Given the description of an element on the screen output the (x, y) to click on. 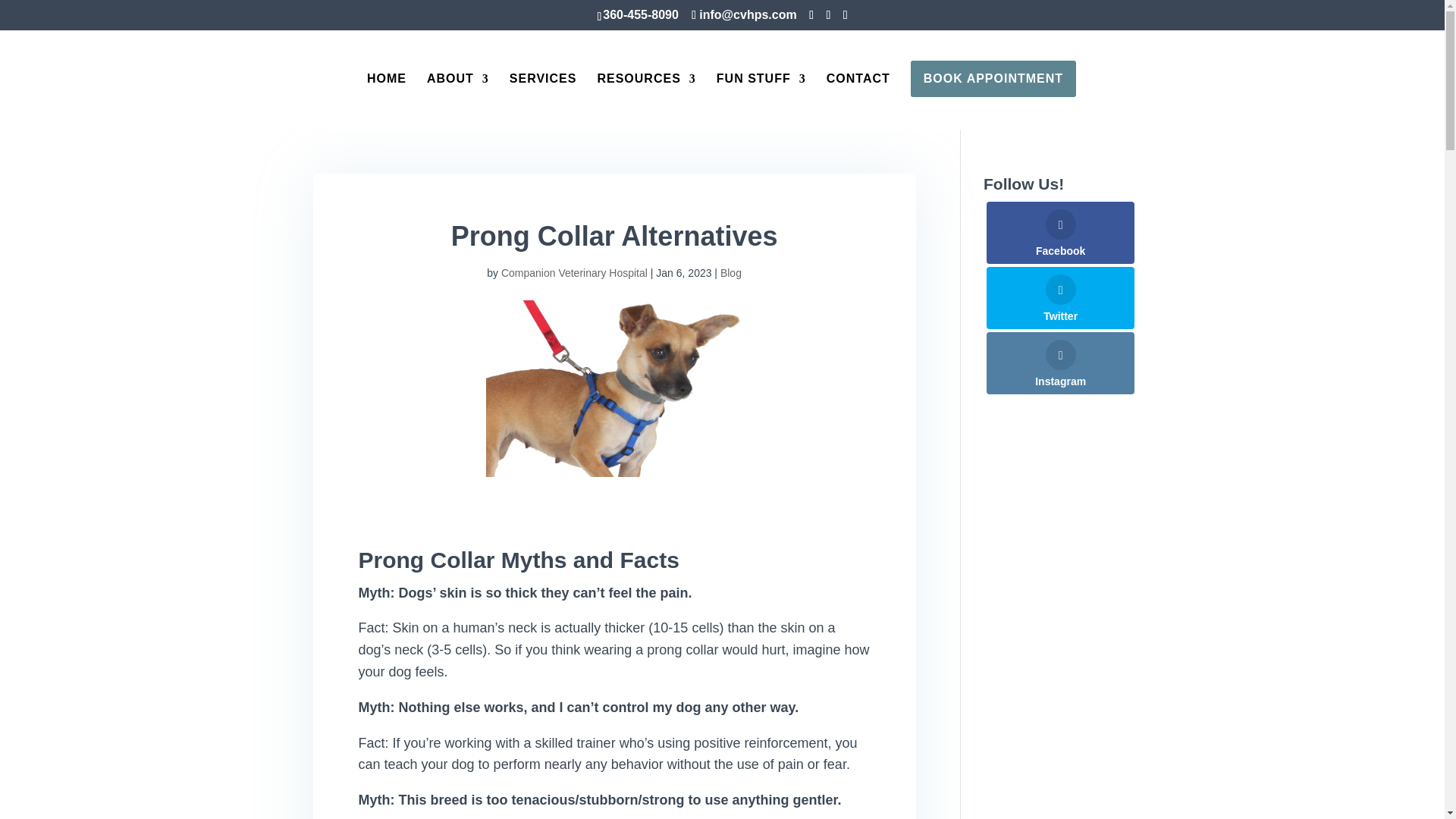
FUN STUFF (761, 101)
SERVICES (542, 101)
BOOK APPOINTMENT (993, 78)
ABOUT (457, 101)
Instagram (1060, 362)
Facebook (1060, 232)
CONTACT (858, 101)
RESOURCES (645, 101)
Companion Veterinary Hospital (573, 272)
360-455-8090 (640, 14)
Blog (730, 272)
Twitter (1060, 297)
Posts by Companion Veterinary Hospital (573, 272)
